Given the description of an element on the screen output the (x, y) to click on. 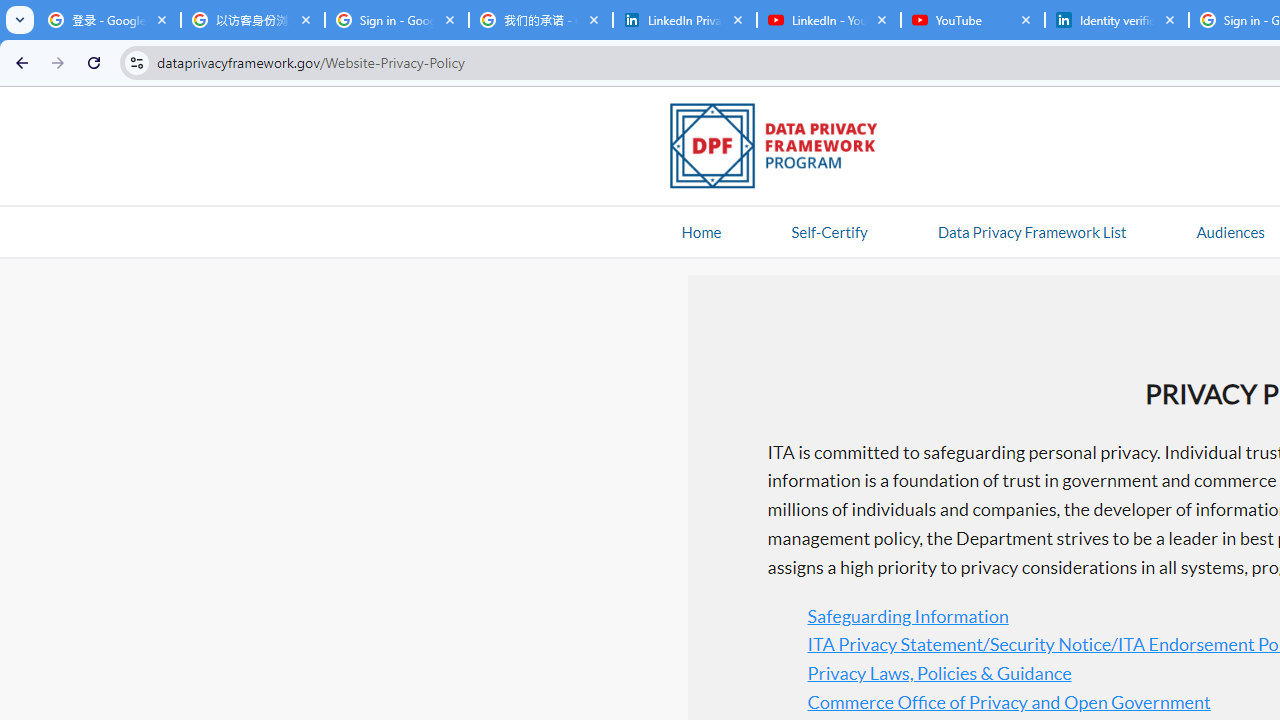
Safeguarding Information (907, 615)
Self-Certify (829, 231)
Commerce Office of Privacy and Open Government (1008, 700)
